Given the description of an element on the screen output the (x, y) to click on. 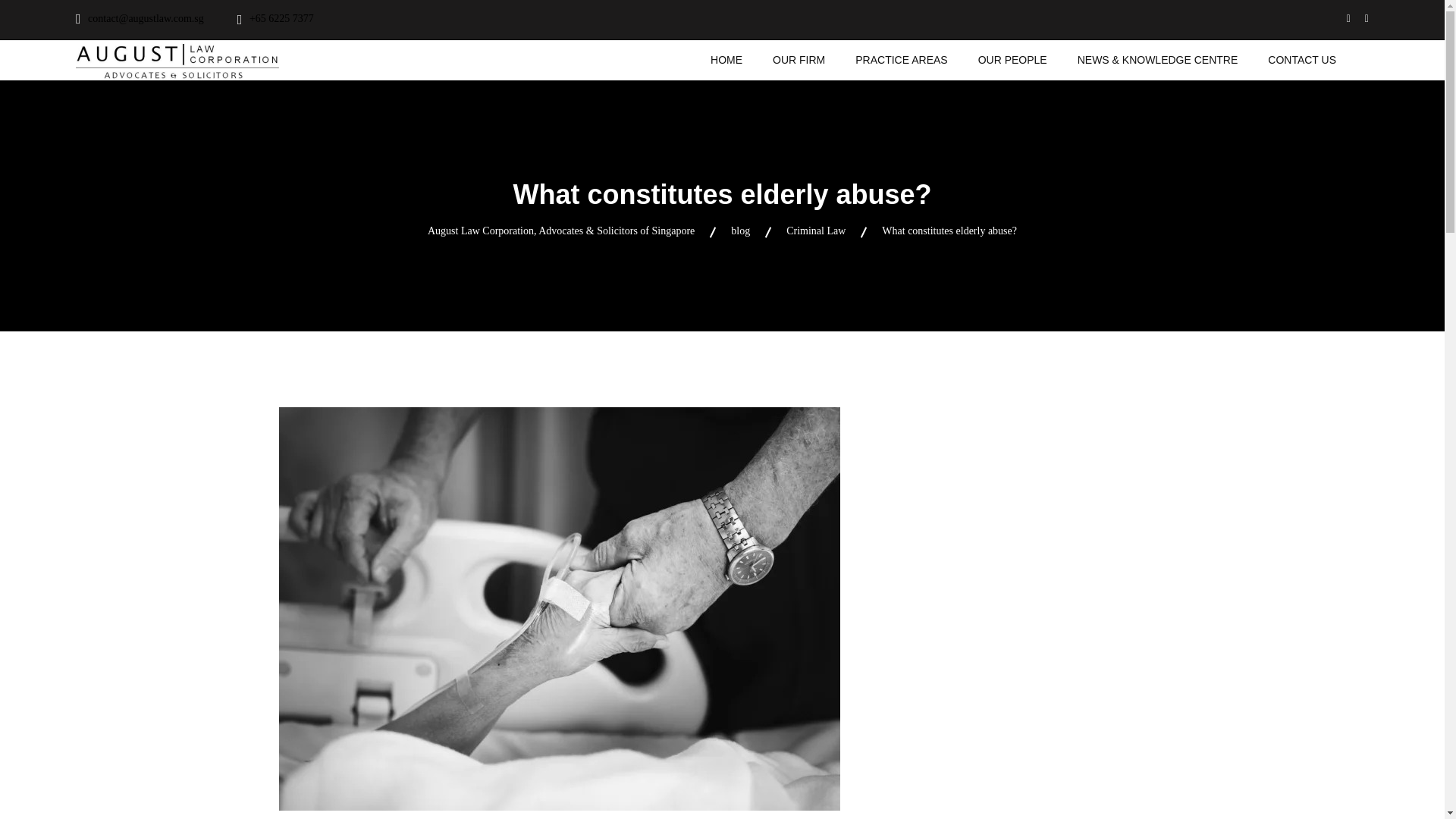
blog (739, 230)
OUR PEOPLE (1012, 60)
PRACTICE AREAS (901, 60)
OUR FIRM (799, 60)
HOME (726, 60)
Go to the Criminal Law Category archives. (815, 230)
Criminal Law (815, 230)
CONTACT US (1302, 60)
Go to blog. (739, 230)
